Given the description of an element on the screen output the (x, y) to click on. 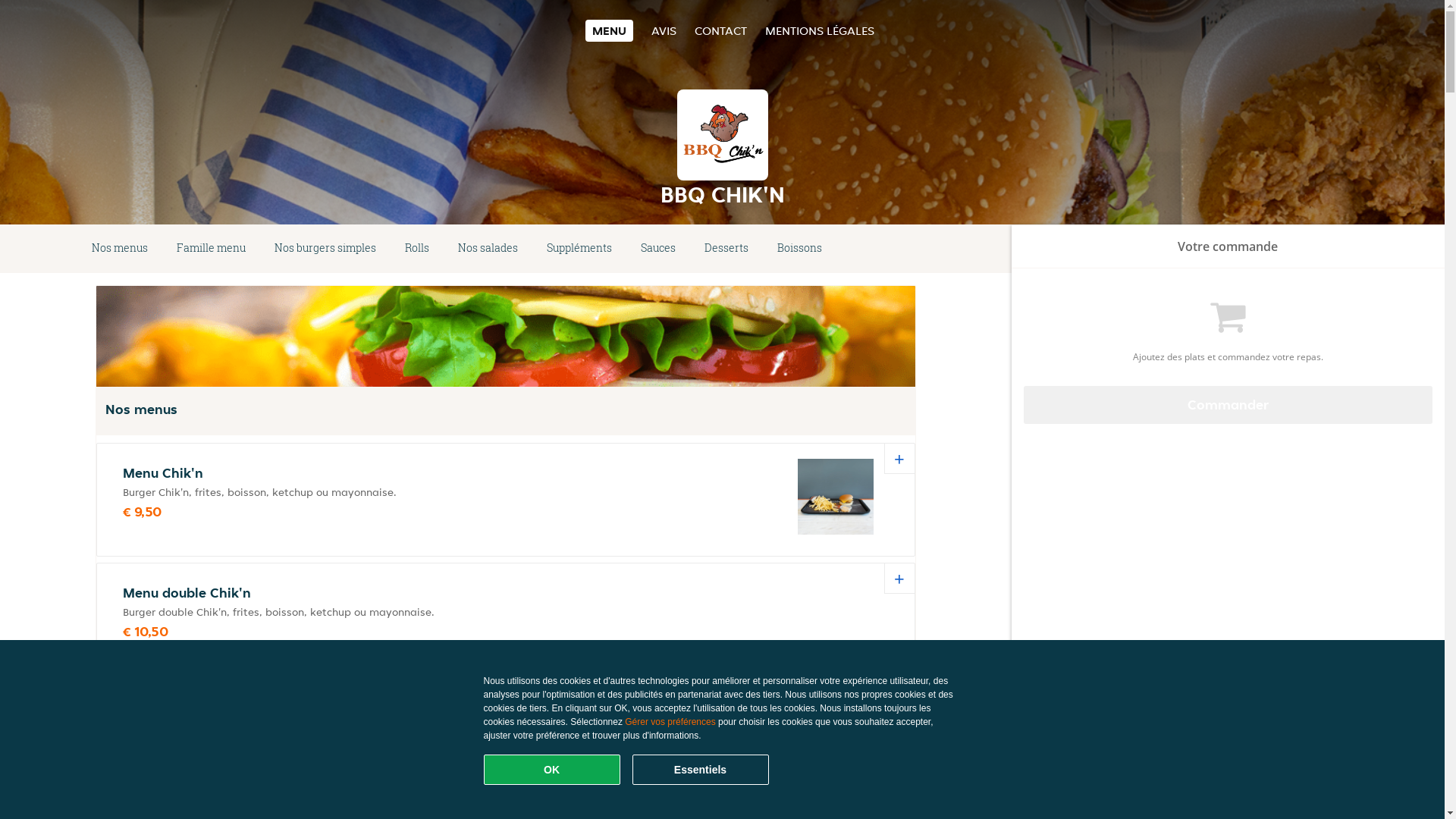
Nos menus Element type: text (119, 248)
Nos burgers simples Element type: text (325, 248)
Nos salades Element type: text (487, 248)
Boissons Element type: text (799, 248)
Rolls Element type: text (416, 248)
Plus d'informations sur le produit Element type: hover (206, 699)
CONTACT Element type: text (720, 30)
MENU Element type: text (609, 30)
Commander Element type: text (1228, 404)
Plus d'informations sur le produit Element type: hover (245, 805)
OK Element type: text (551, 769)
Essentiels Element type: text (700, 769)
AVIS Element type: text (663, 30)
Sauces Element type: text (658, 248)
Famille menu Element type: text (211, 248)
Desserts Element type: text (726, 248)
